Given the description of an element on the screen output the (x, y) to click on. 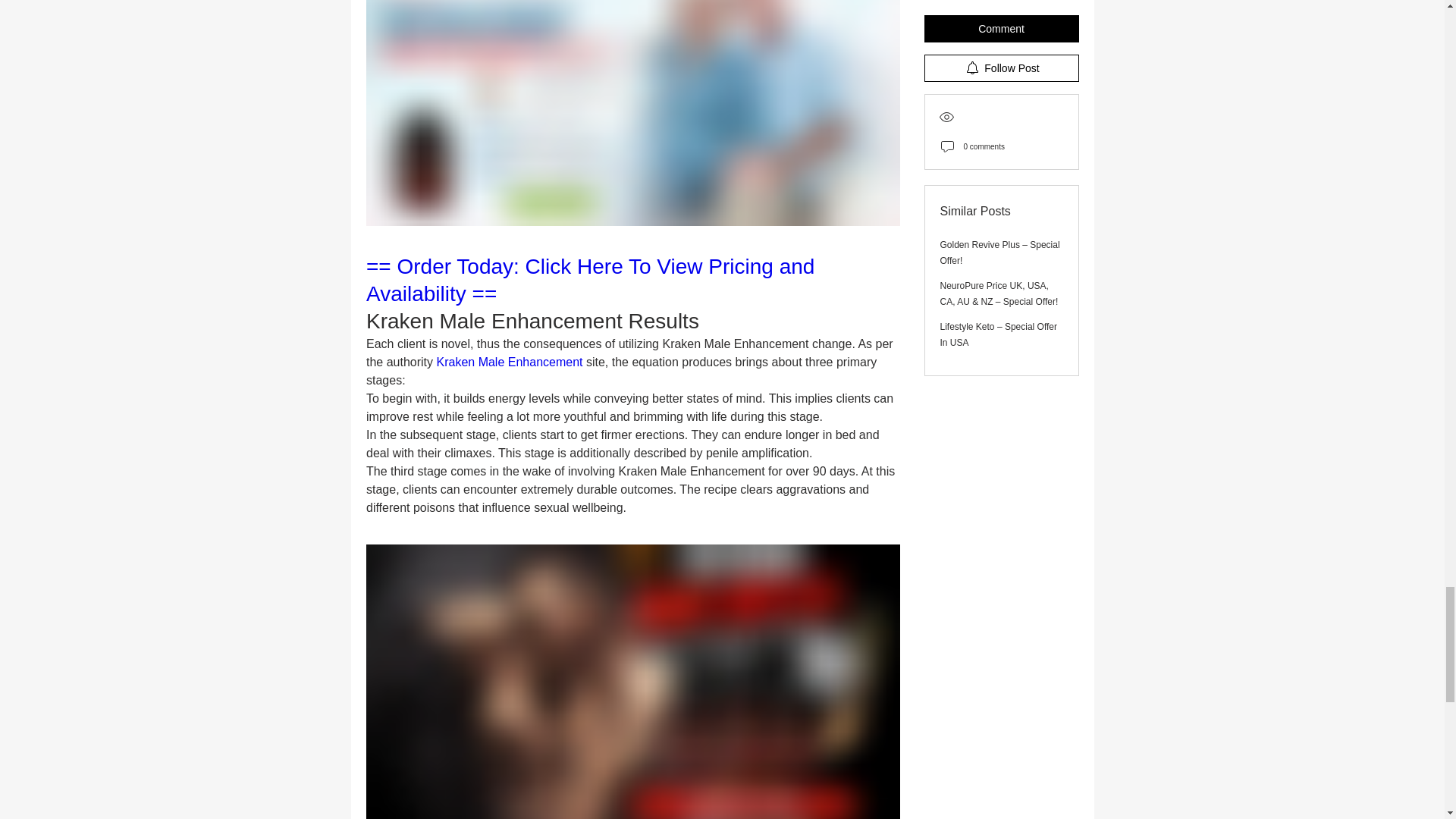
Kraken Male Enhancement (508, 361)
